Given the description of an element on the screen output the (x, y) to click on. 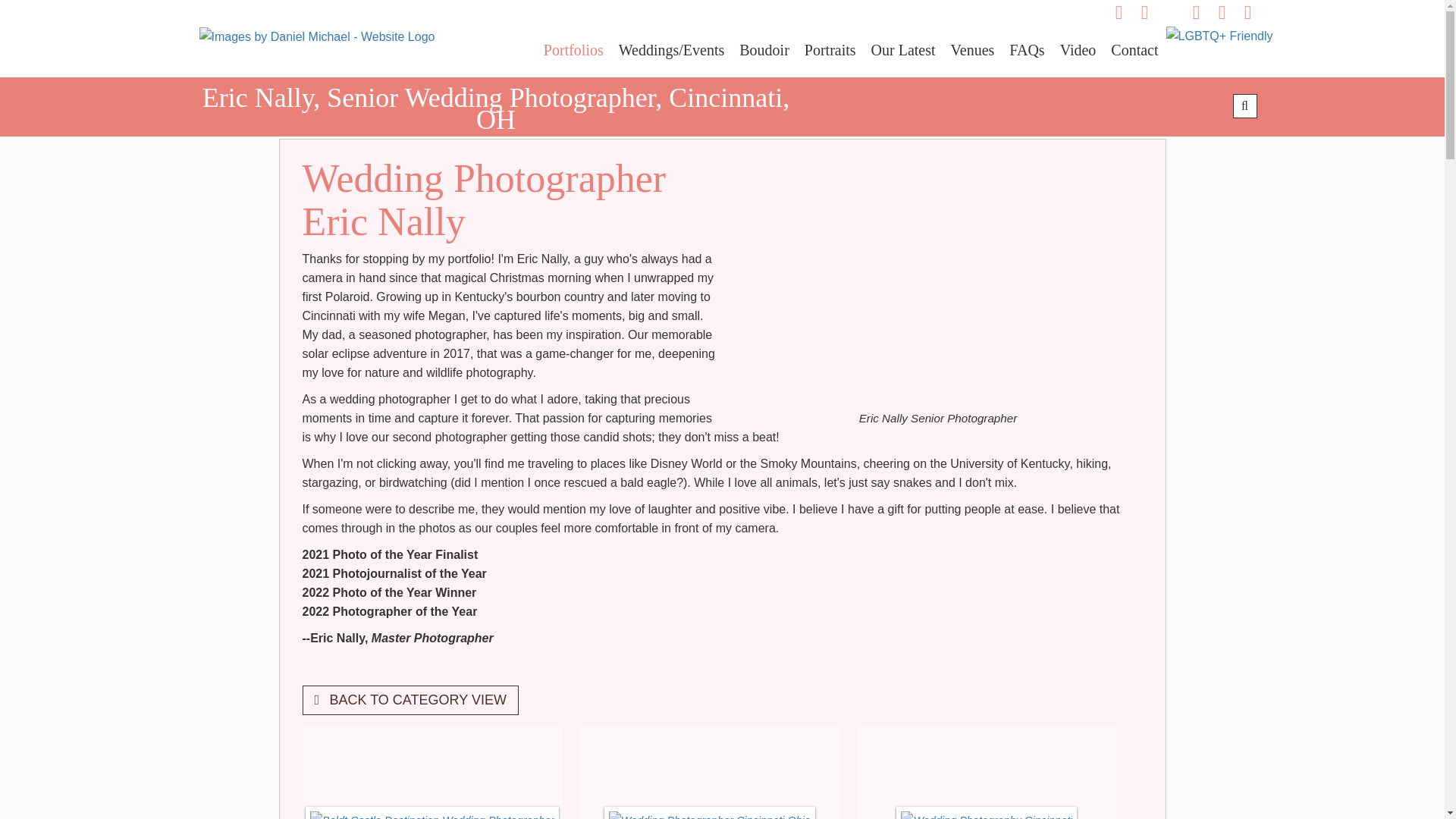
Portraits (829, 49)
visit our TikTok page (1169, 12)
YouTube video player (945, 283)
Boudoir (764, 49)
Portfolios (573, 49)
visit our TikTok page (1169, 12)
